Given the description of an element on the screen output the (x, y) to click on. 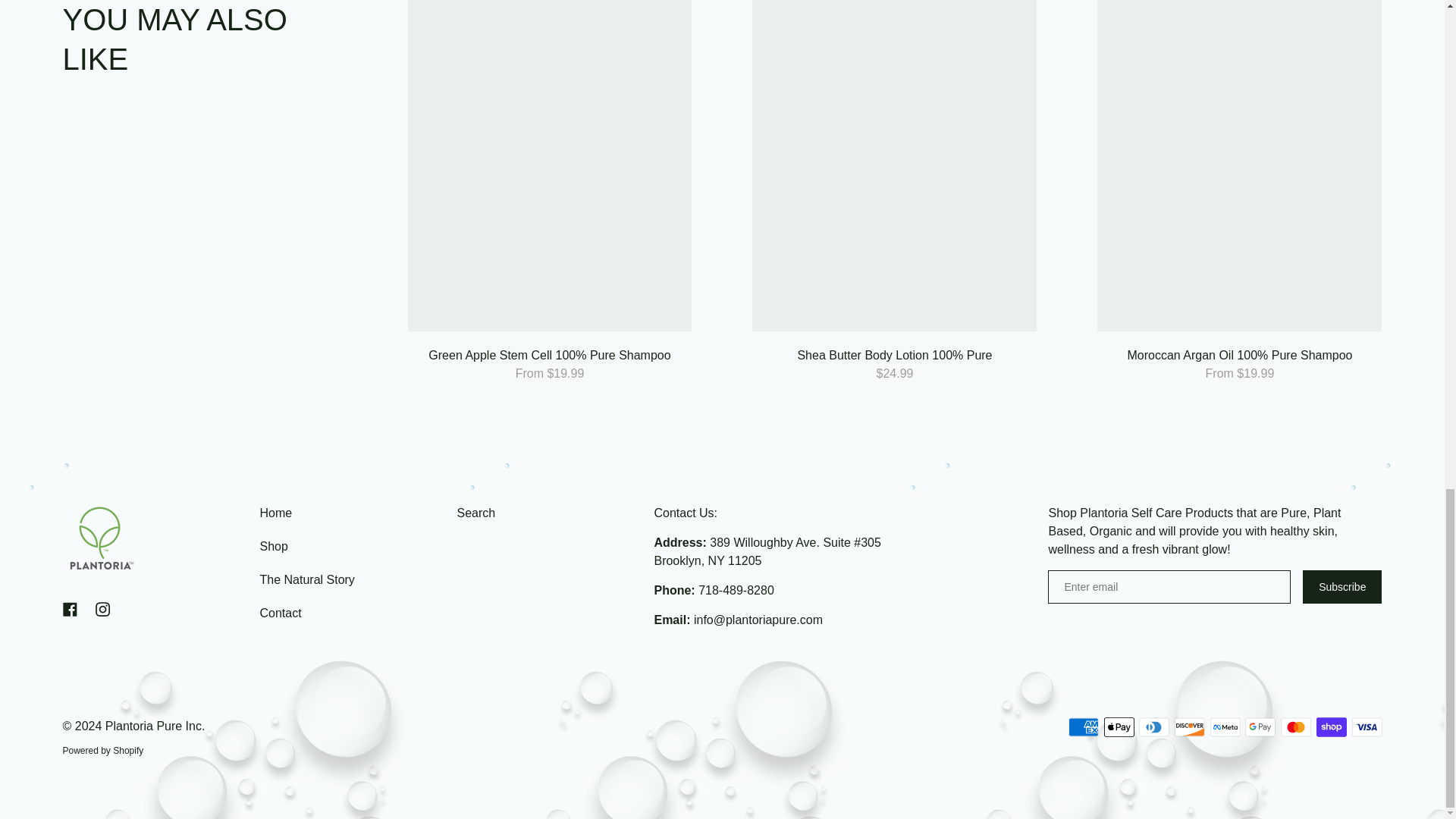
Apple Pay (1118, 726)
Discover (1189, 726)
American Express (1083, 726)
Shop Pay (1331, 726)
Plantoria Pure Inc. on Facebook (69, 608)
Diners Club (1153, 726)
Plantoria Pure Inc. on Instagram (102, 608)
Visa (1366, 726)
Google Pay (1259, 726)
Meta Pay (1224, 726)
